Given the description of an element on the screen output the (x, y) to click on. 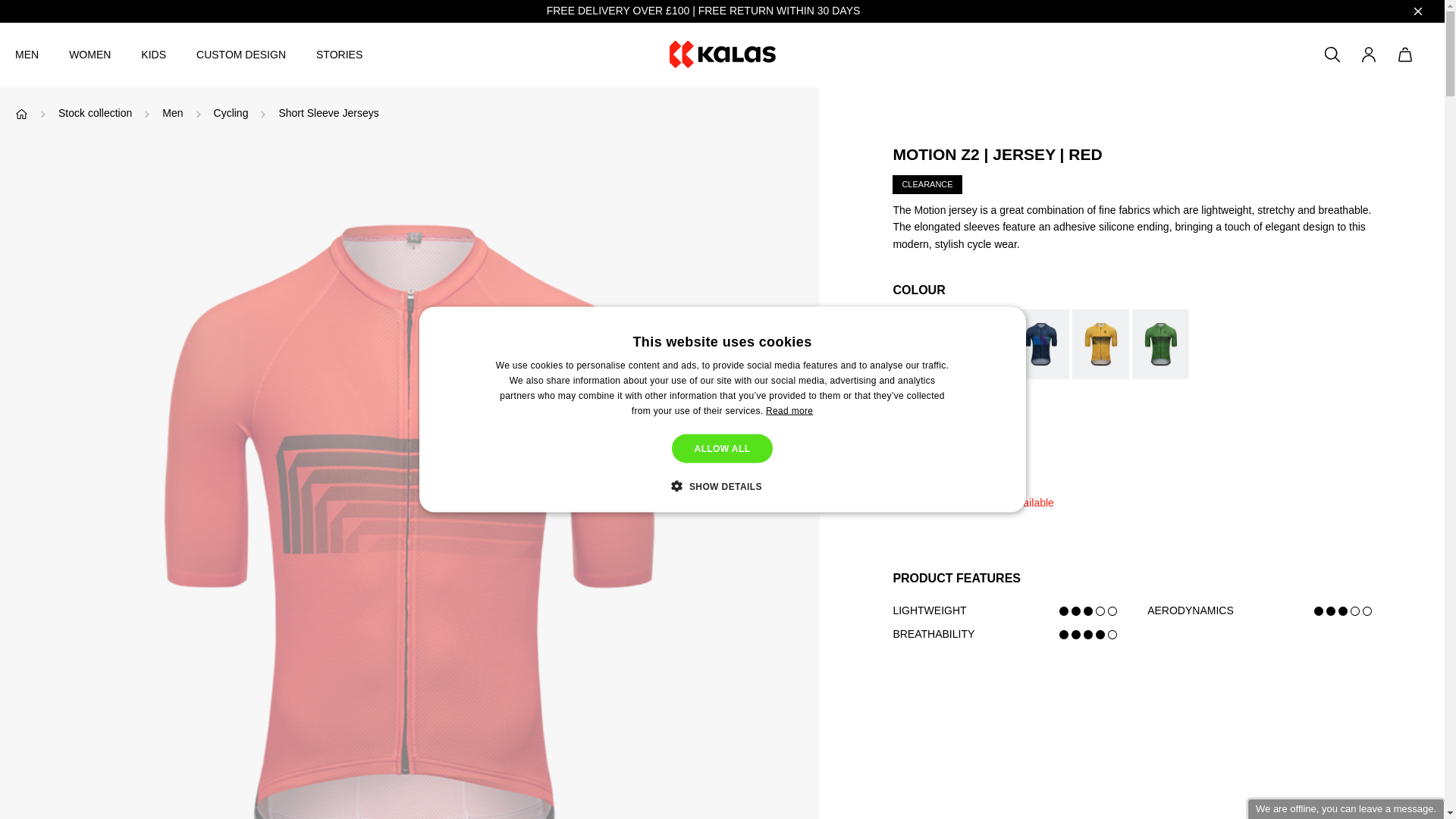
CUSTOM DESIGN (240, 54)
STORIES (339, 54)
WOMEN (89, 54)
